Given the description of an element on the screen output the (x, y) to click on. 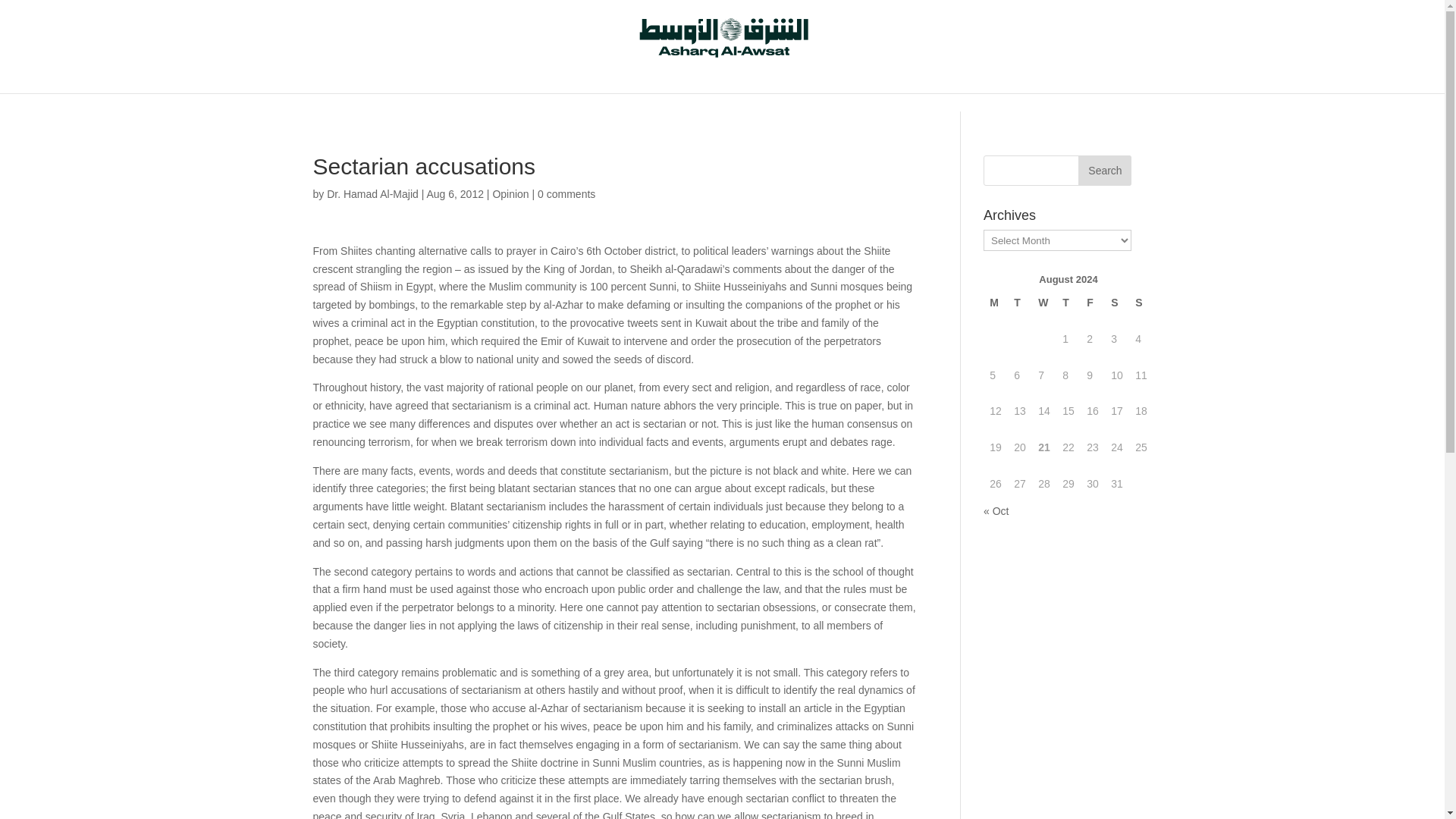
Dr. Hamad Al-Majid (372, 193)
Opinion (510, 193)
Search (1104, 170)
Posts by Dr. Hamad Al-Majid (372, 193)
Search (1104, 170)
0 comments (566, 193)
